Given the description of an element on the screen output the (x, y) to click on. 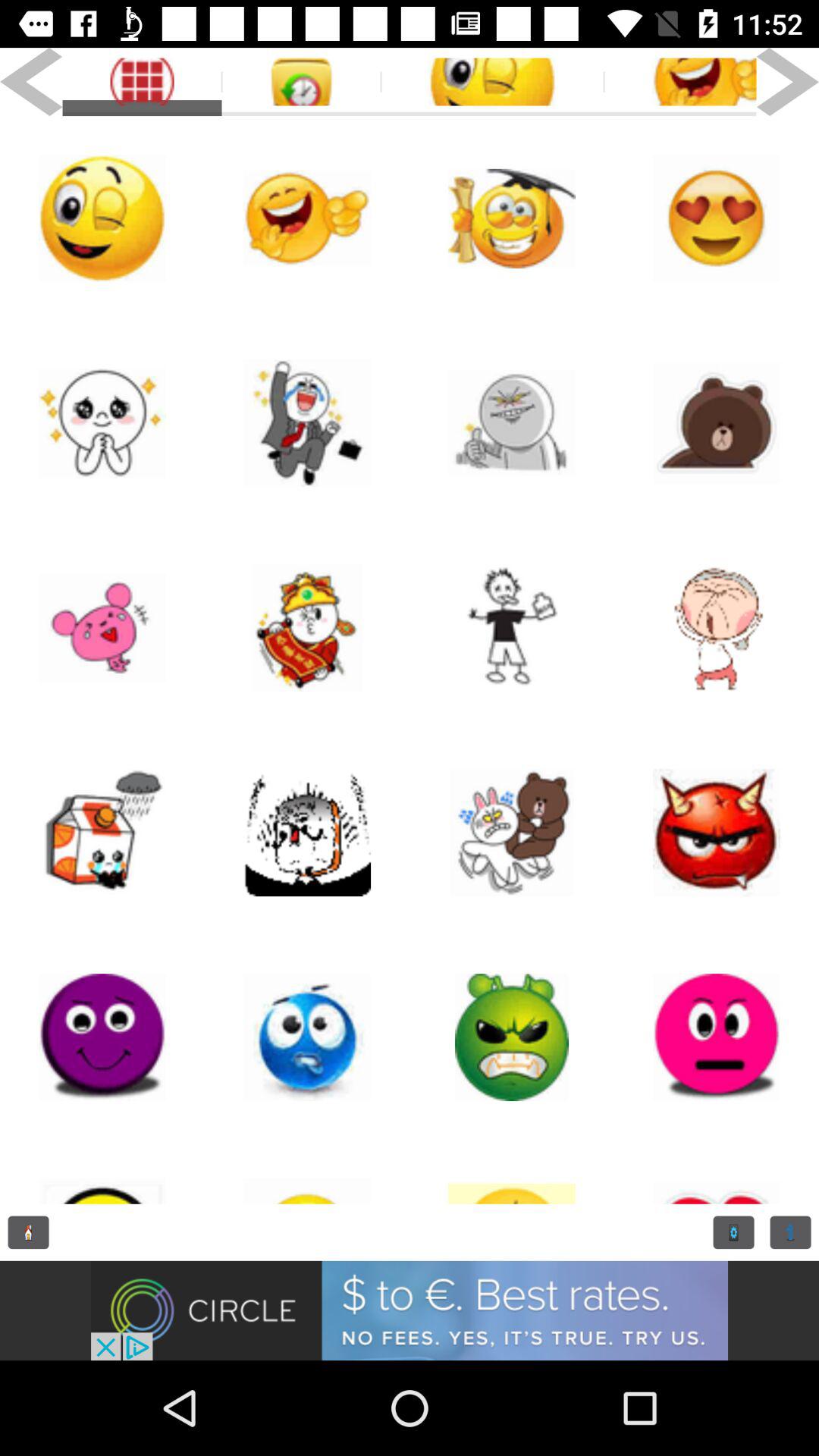
doll page (511, 832)
